Given the description of an element on the screen output the (x, y) to click on. 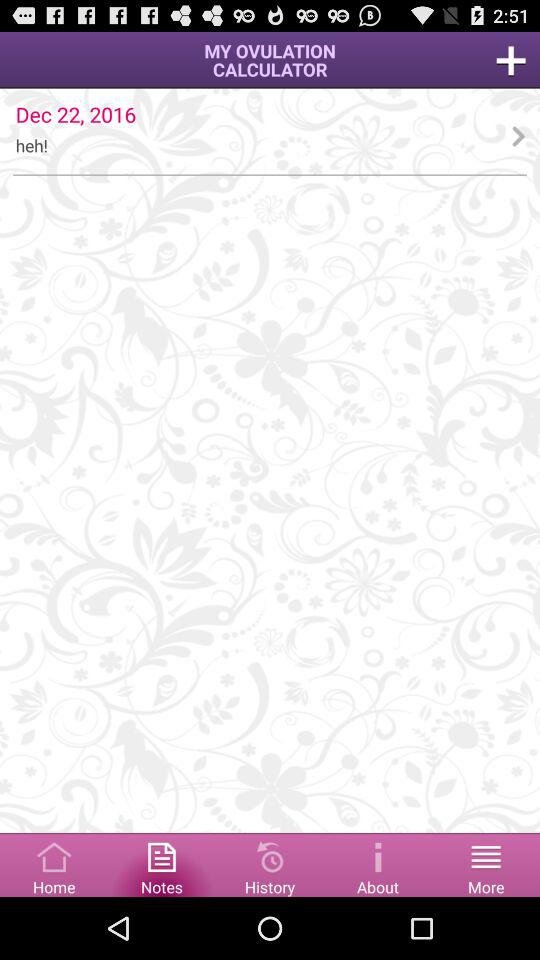
menu page (511, 60)
